Given the description of an element on the screen output the (x, y) to click on. 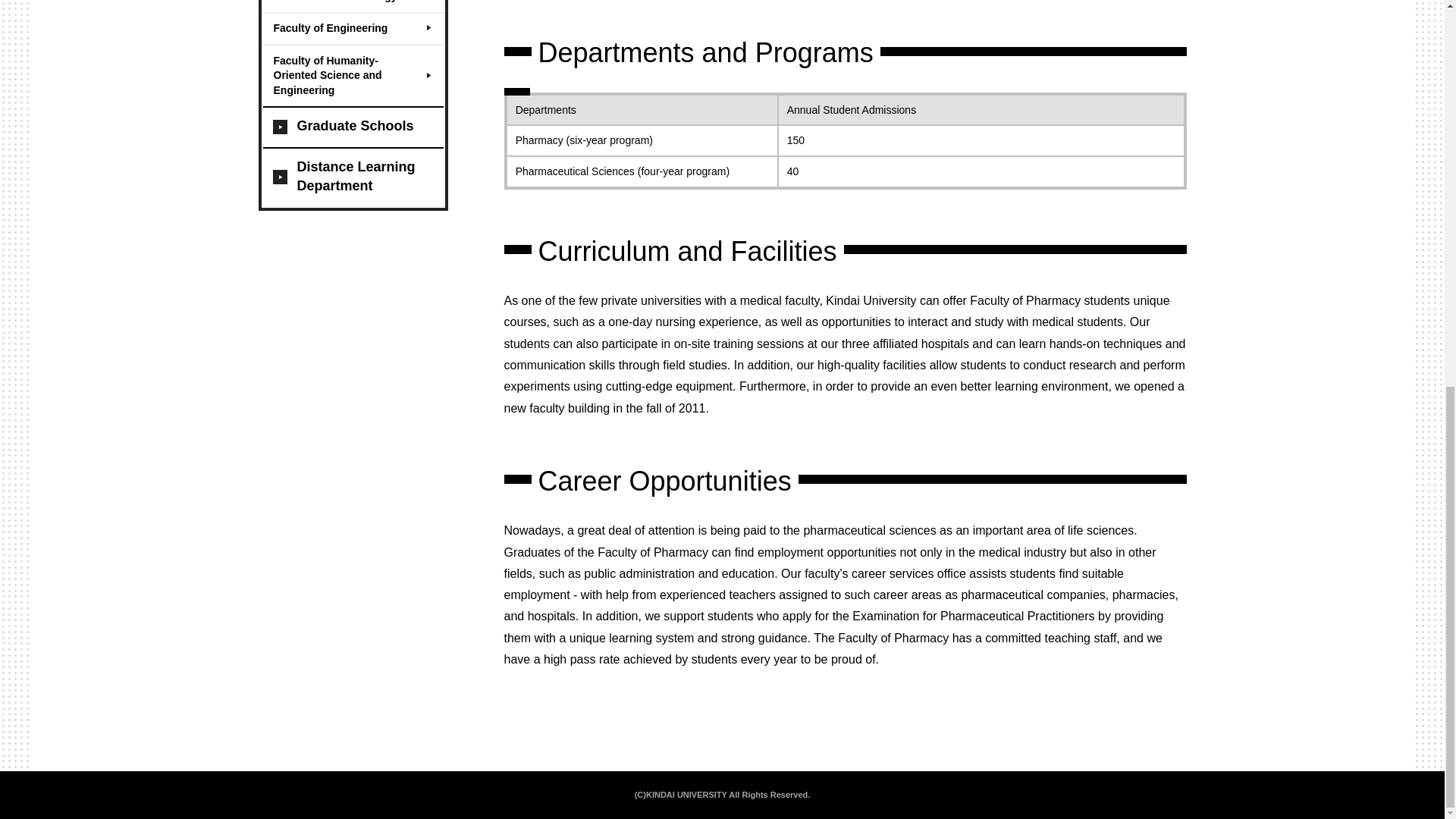
Faculty of Humanity-Oriented Science and Engineering (352, 75)
Faculty of Engineering (352, 28)
Distance Learning Department (352, 177)
Faculty of Biology-Oriented Science and Technology (352, 5)
Graduate Schools (352, 126)
